Given the description of an element on the screen output the (x, y) to click on. 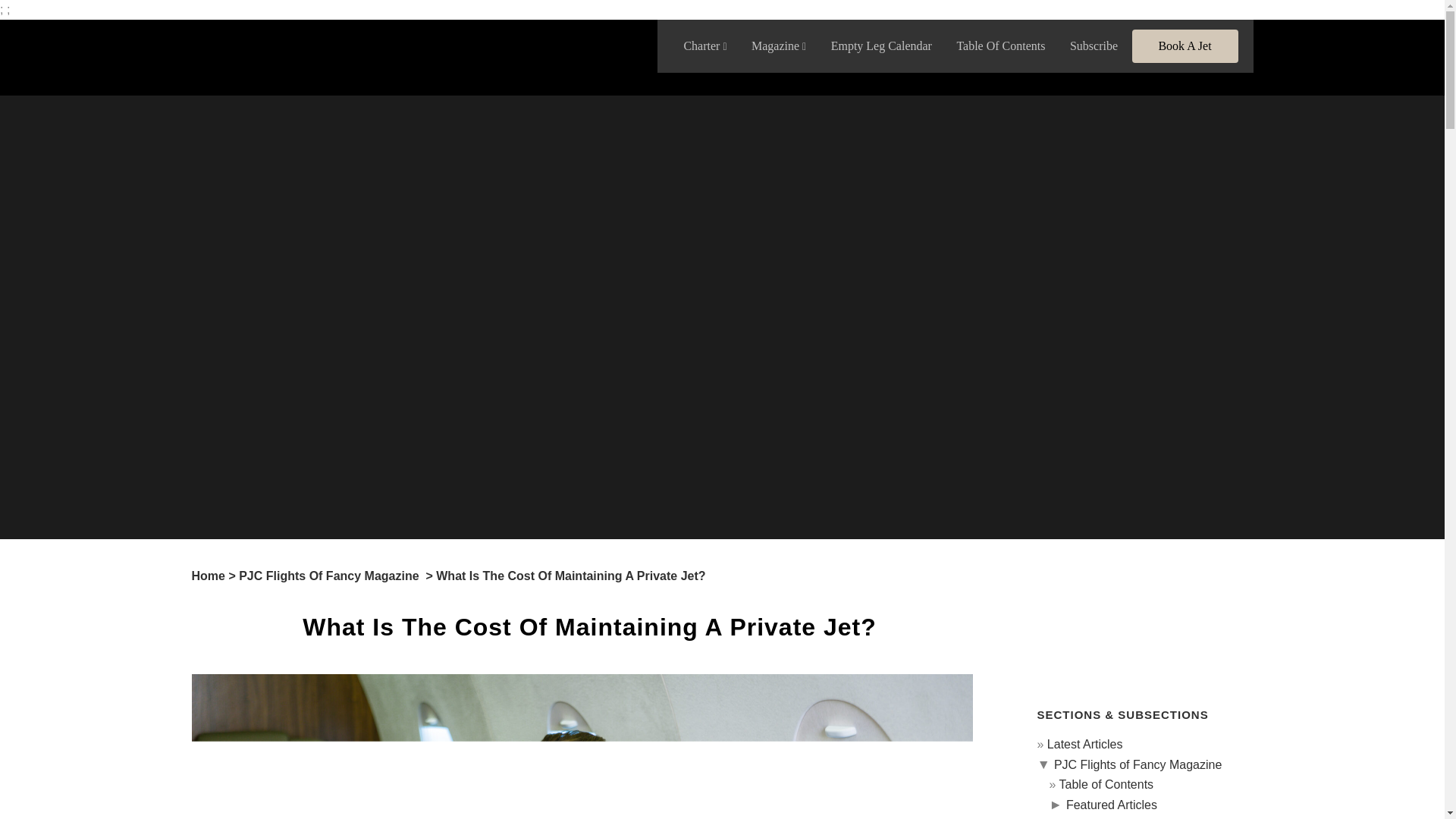
Magazine (778, 45)
Charter (704, 45)
Book A Jet (1184, 46)
Subscribe (1093, 45)
Table Of Contents (999, 45)
Empty Leg Calendar (881, 45)
